Given the description of an element on the screen output the (x, y) to click on. 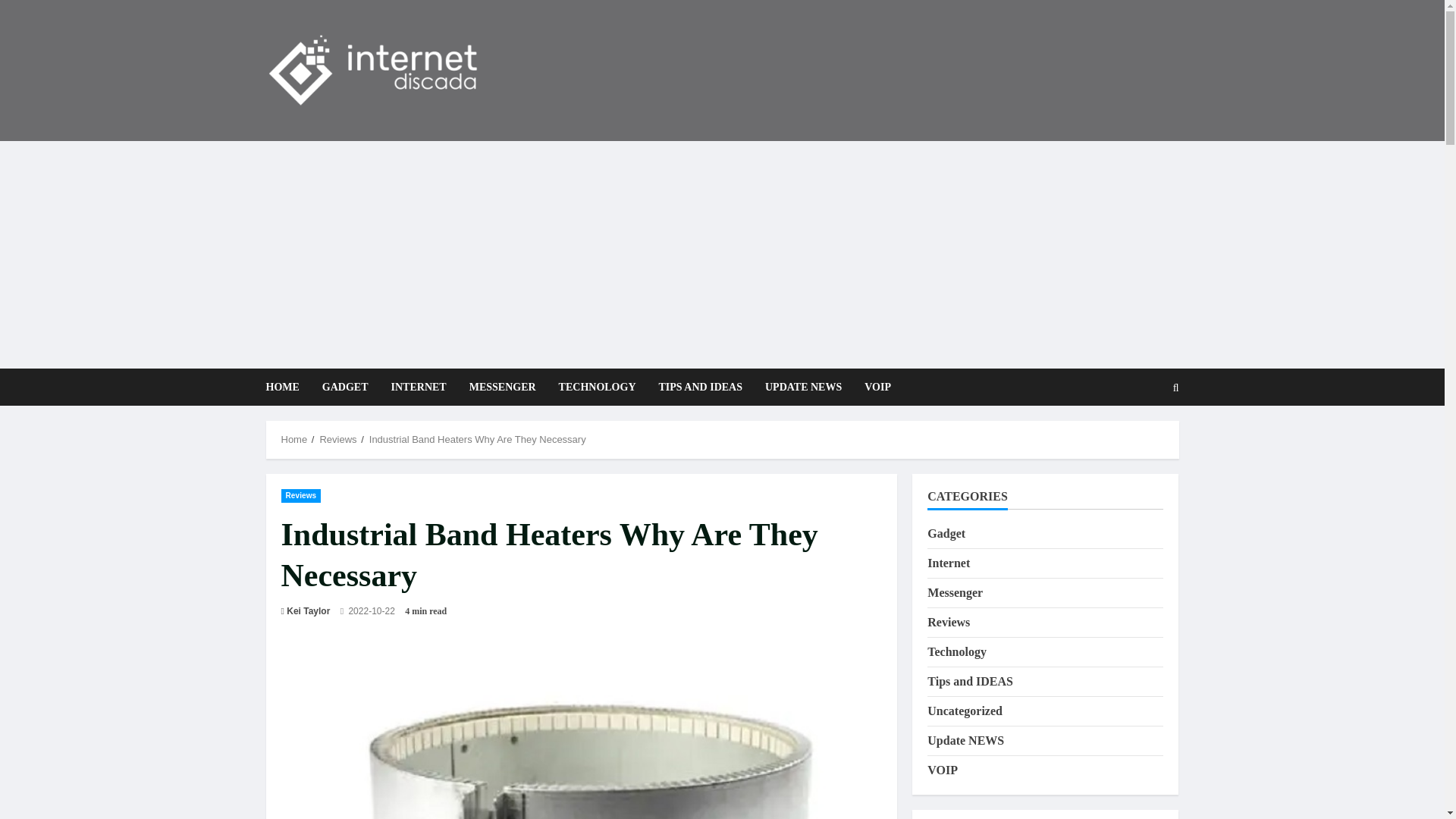
TIPS AND IDEAS (700, 386)
Internet (948, 563)
Reviews (300, 495)
Reviews (337, 439)
INTERNET (419, 386)
Search (1139, 439)
Reviews (948, 622)
Kei Taylor (308, 611)
UPDATE NEWS (803, 386)
